Given the description of an element on the screen output the (x, y) to click on. 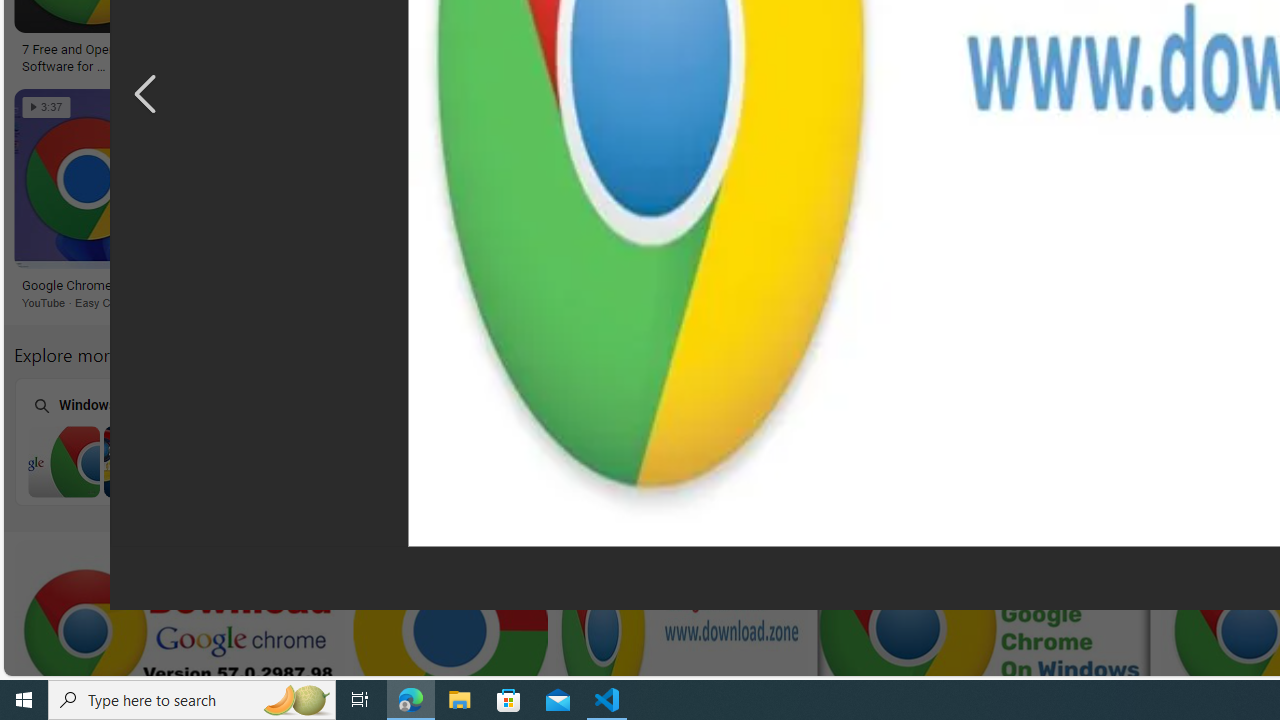
Image result for Google Chrome Internet Browser Download (817, 179)
Internet Explorer (395, 440)
Windows 7 (138, 440)
3:37 (45, 107)
Download Google Chrome As My Web Browser (494, 286)
Chrome Browser Download Windows 10 Windows 10 (907, 441)
Download Google Chrome As My Web BrowserSave (498, 202)
How to download google chrome apps - snoml (852, 56)
Download internet explorer 9.0 free - snorobot (800, 286)
Download internet explorer 9.0 free - snorobot (817, 286)
